Given the description of an element on the screen output the (x, y) to click on. 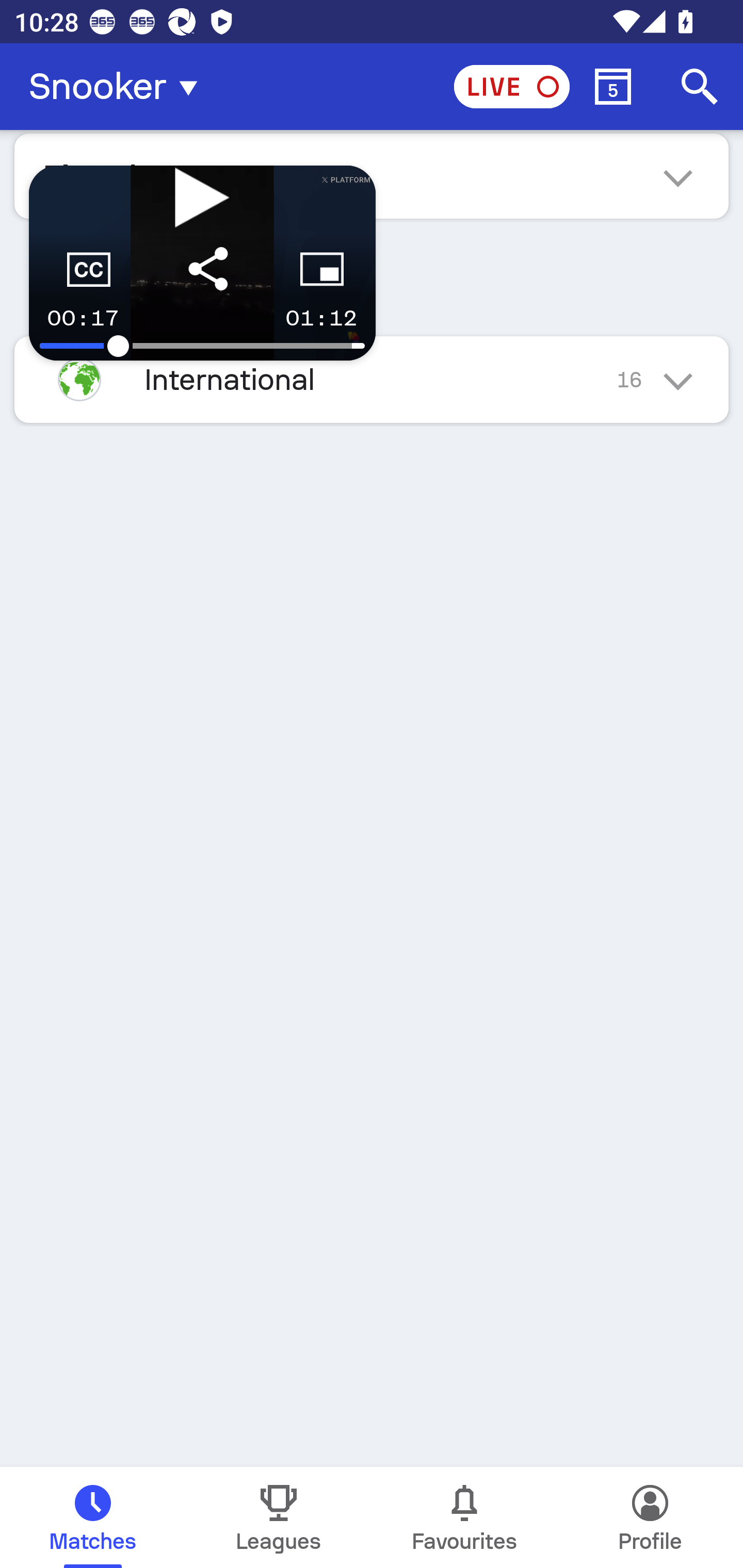
Snooker (118, 86)
Calendar (612, 86)
Search (699, 86)
International 16 (371, 379)
Leagues (278, 1517)
Favourites (464, 1517)
Profile (650, 1517)
